Given the description of an element on the screen output the (x, y) to click on. 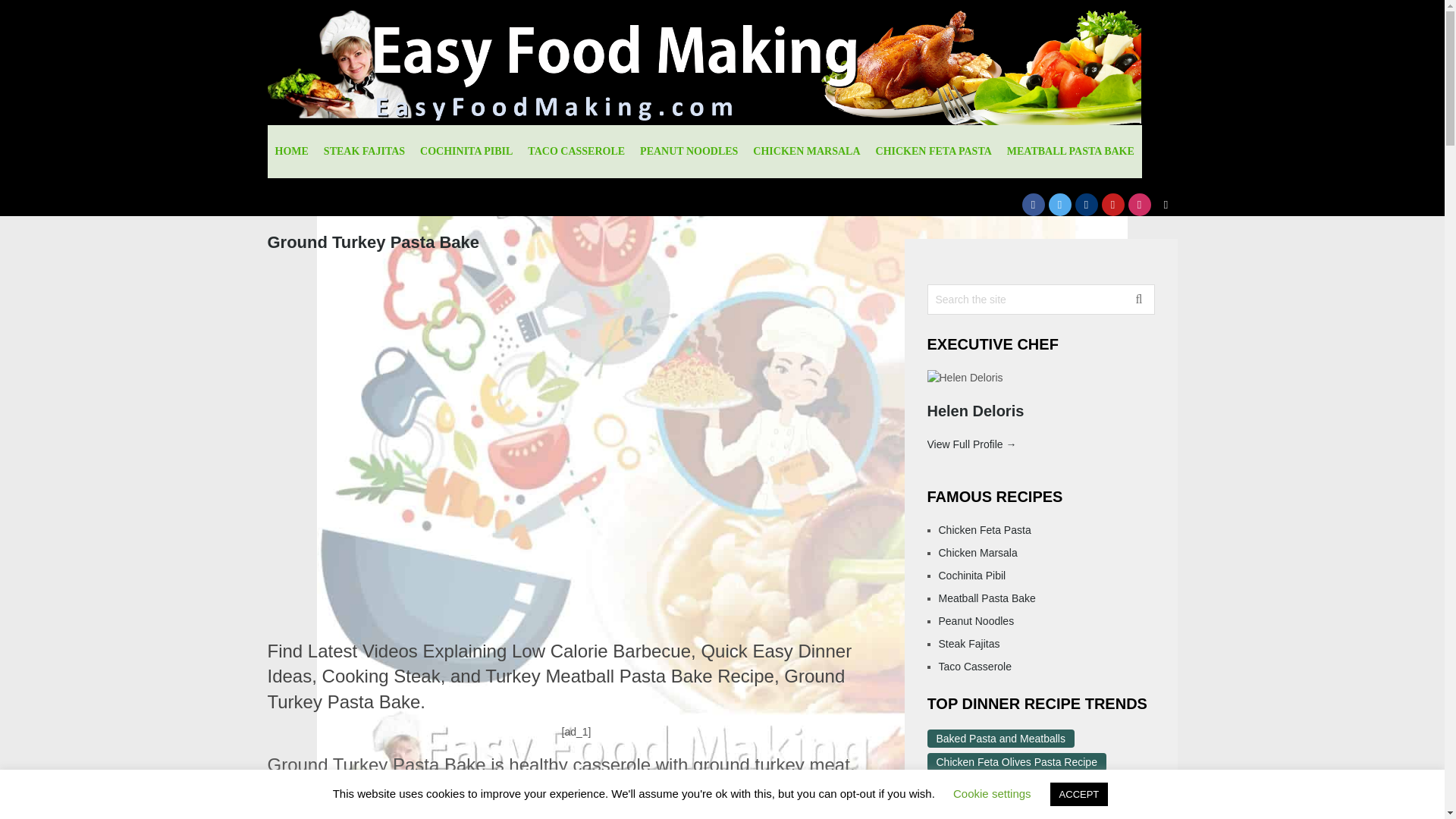
MEATBALL PASTA BAKE (1069, 151)
CHICKEN MARSALA (806, 151)
COCHINITA PIBIL (465, 151)
STEAK FAJITAS (363, 151)
TACO CASSEROLE (575, 151)
PEANUT NOODLES (688, 151)
CHICKEN FETA PASTA (932, 151)
HOME (290, 151)
